Given the description of an element on the screen output the (x, y) to click on. 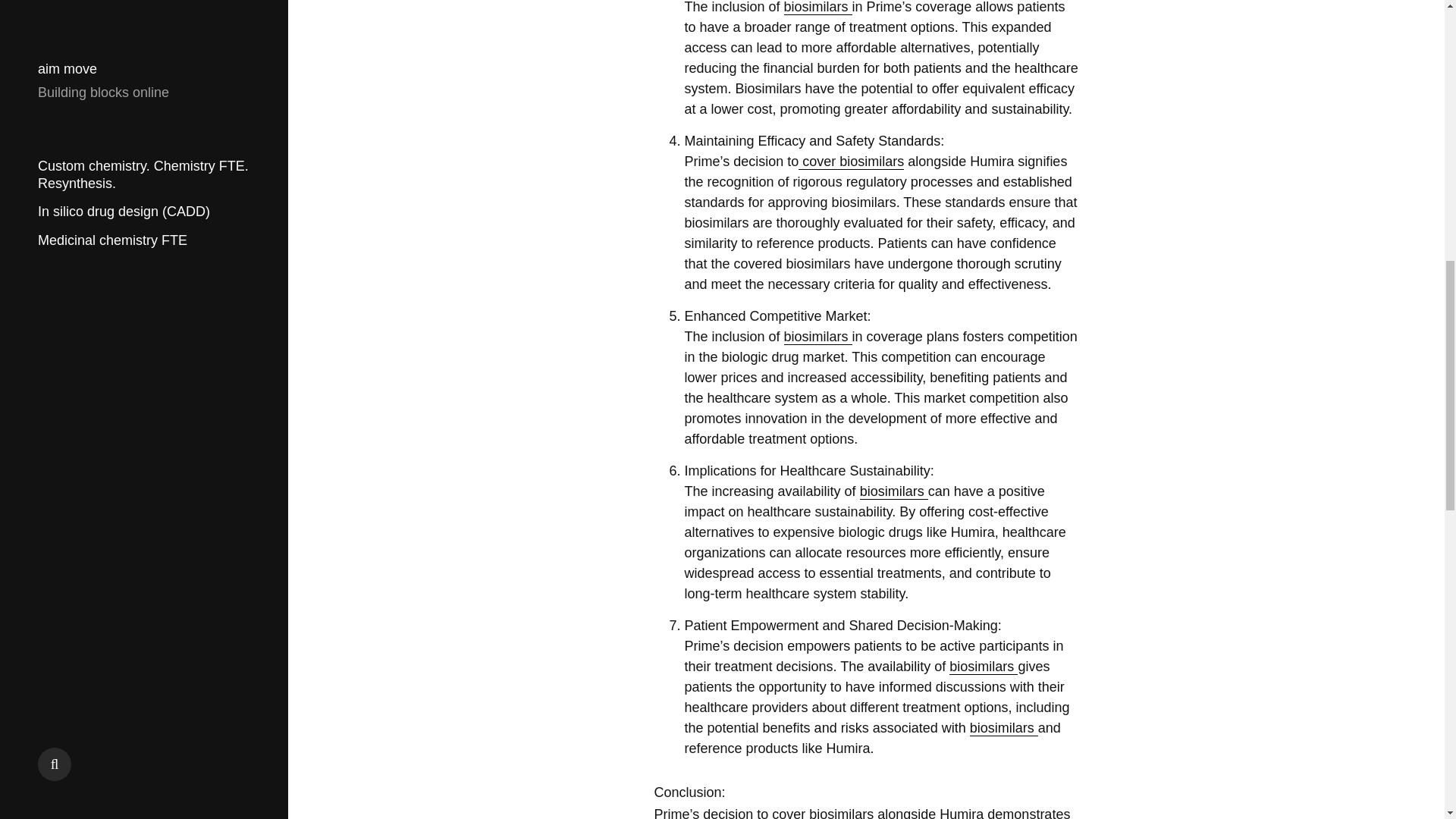
biosimilars (1003, 728)
cover biosimilars (850, 161)
biosimilars (817, 336)
biosimilars (817, 7)
biosimilars (894, 491)
biosimilars (983, 666)
